Given the description of an element on the screen output the (x, y) to click on. 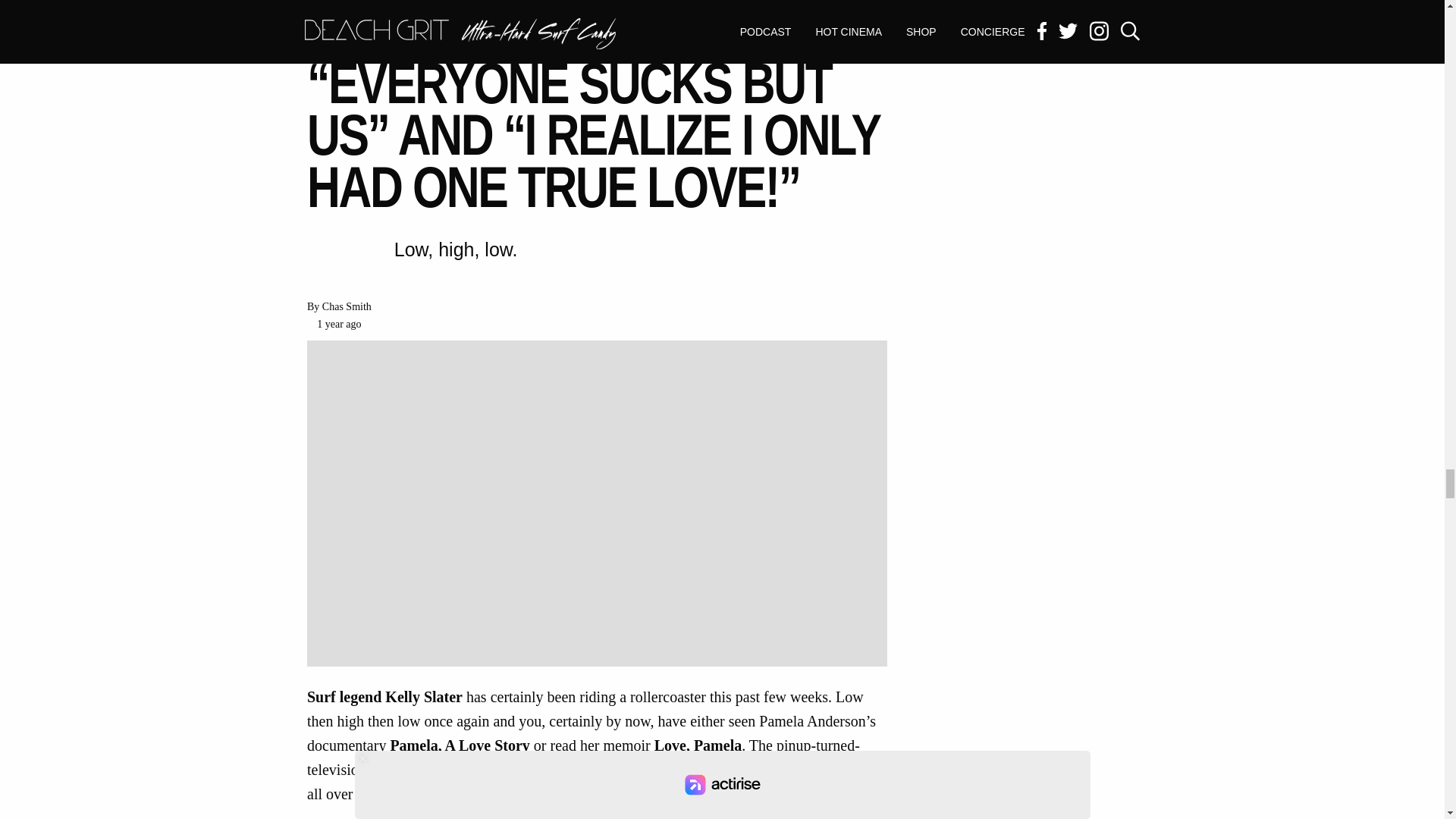
Love, Pamela (697, 746)
Chas Smith (346, 306)
Pamela, A Love Story (459, 746)
